Given the description of an element on the screen output the (x, y) to click on. 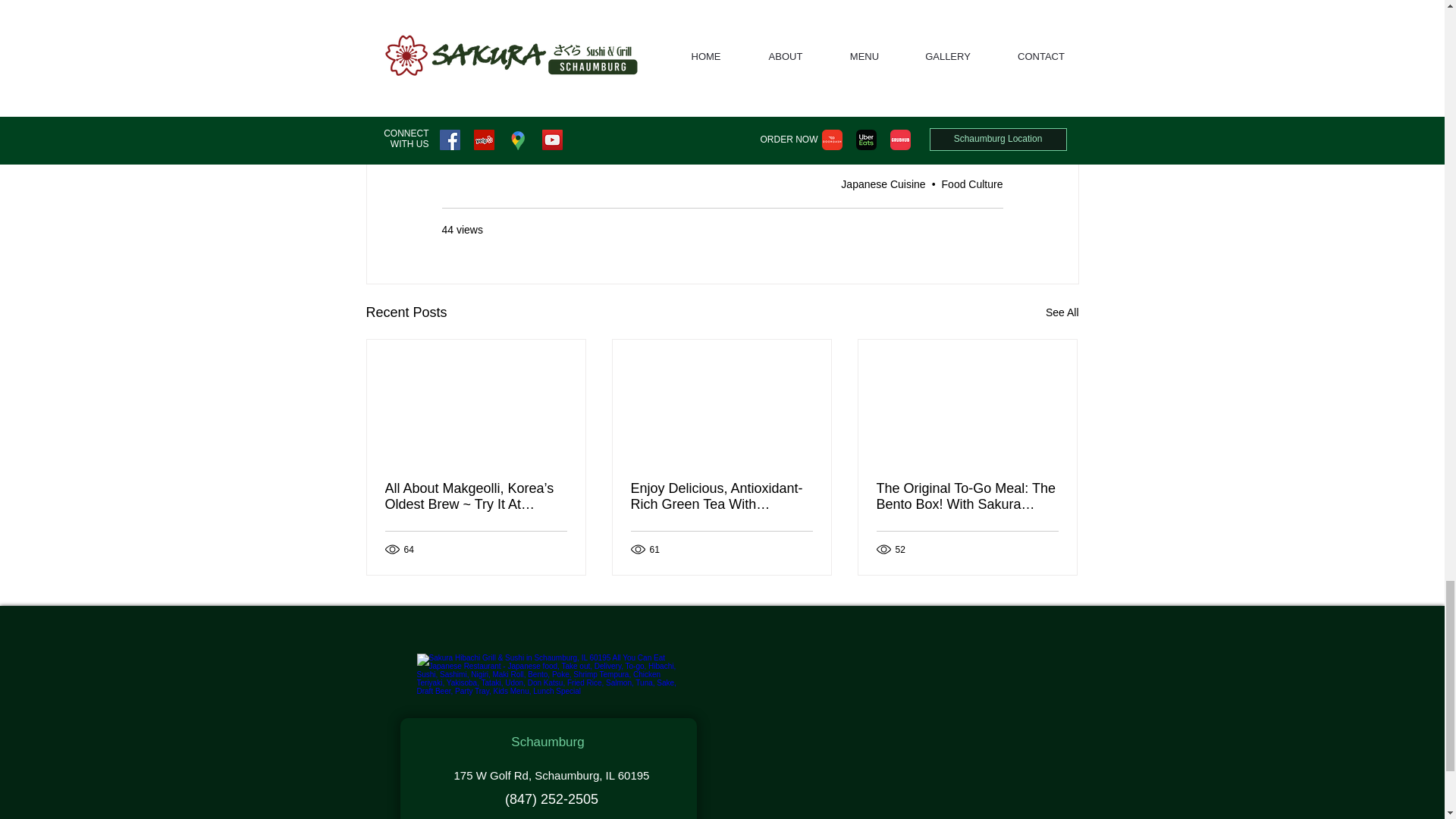
175 W Golf Rd, Schaumburg, IL 60195 (559, 51)
Sakura Sushi Schaumburg All You Can Eat (600, 28)
